Given the description of an element on the screen output the (x, y) to click on. 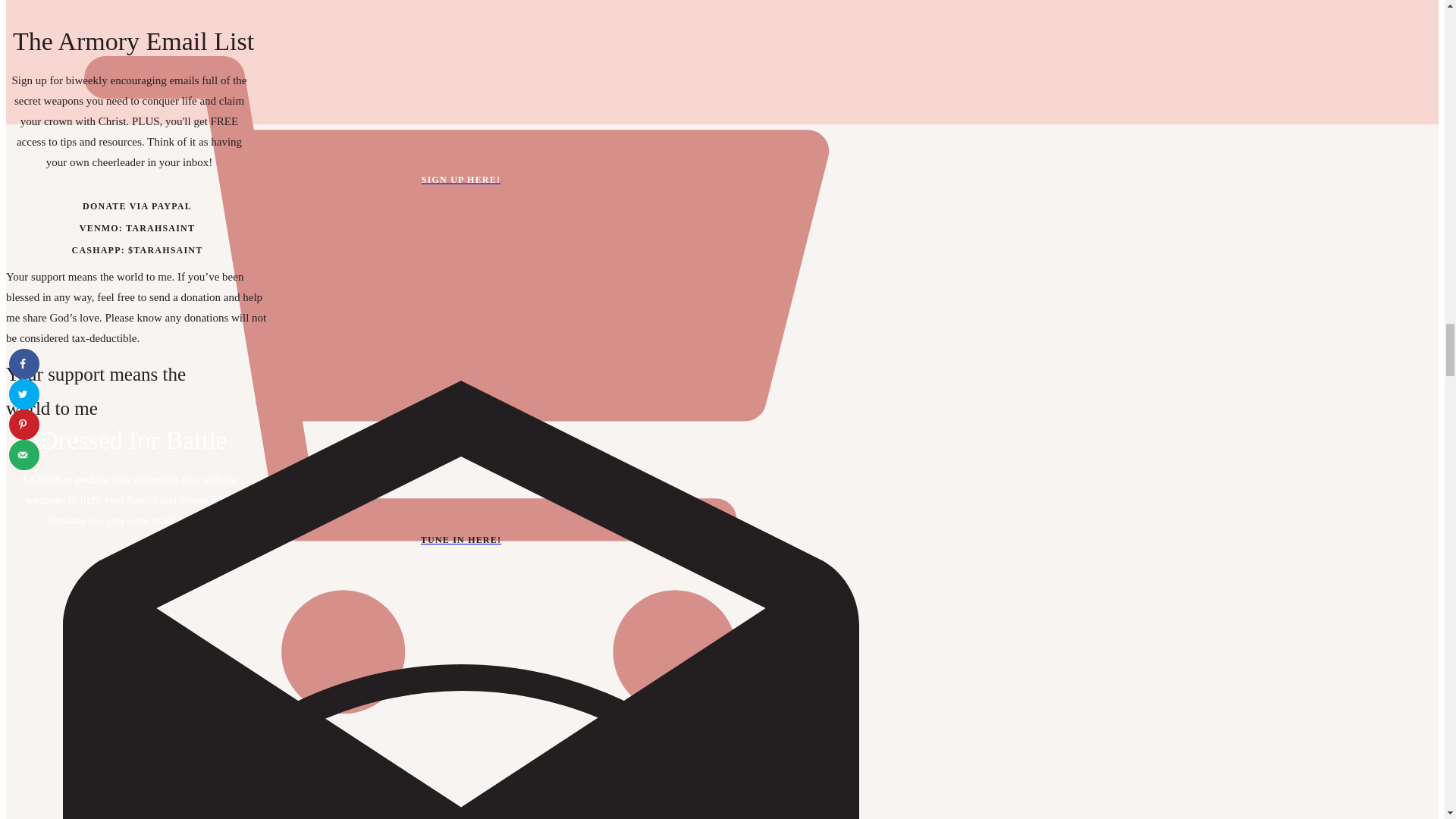
TUNE IN HERE! (460, 548)
SIGN UP HERE! (460, 180)
